Given the description of an element on the screen output the (x, y) to click on. 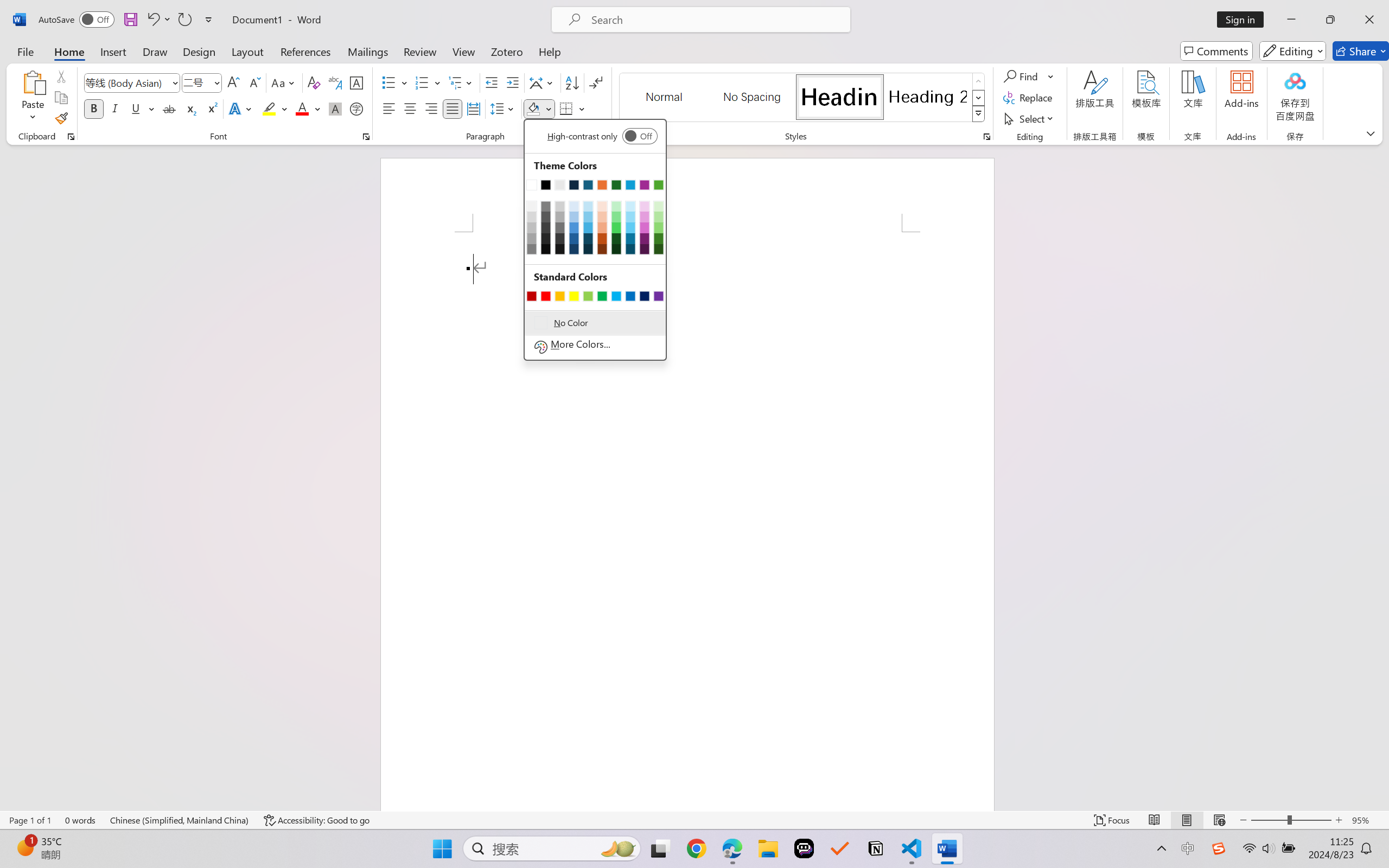
Undo Apply Quick Style (158, 19)
Repeat Style (184, 19)
Google Chrome (696, 848)
